Given the description of an element on the screen output the (x, y) to click on. 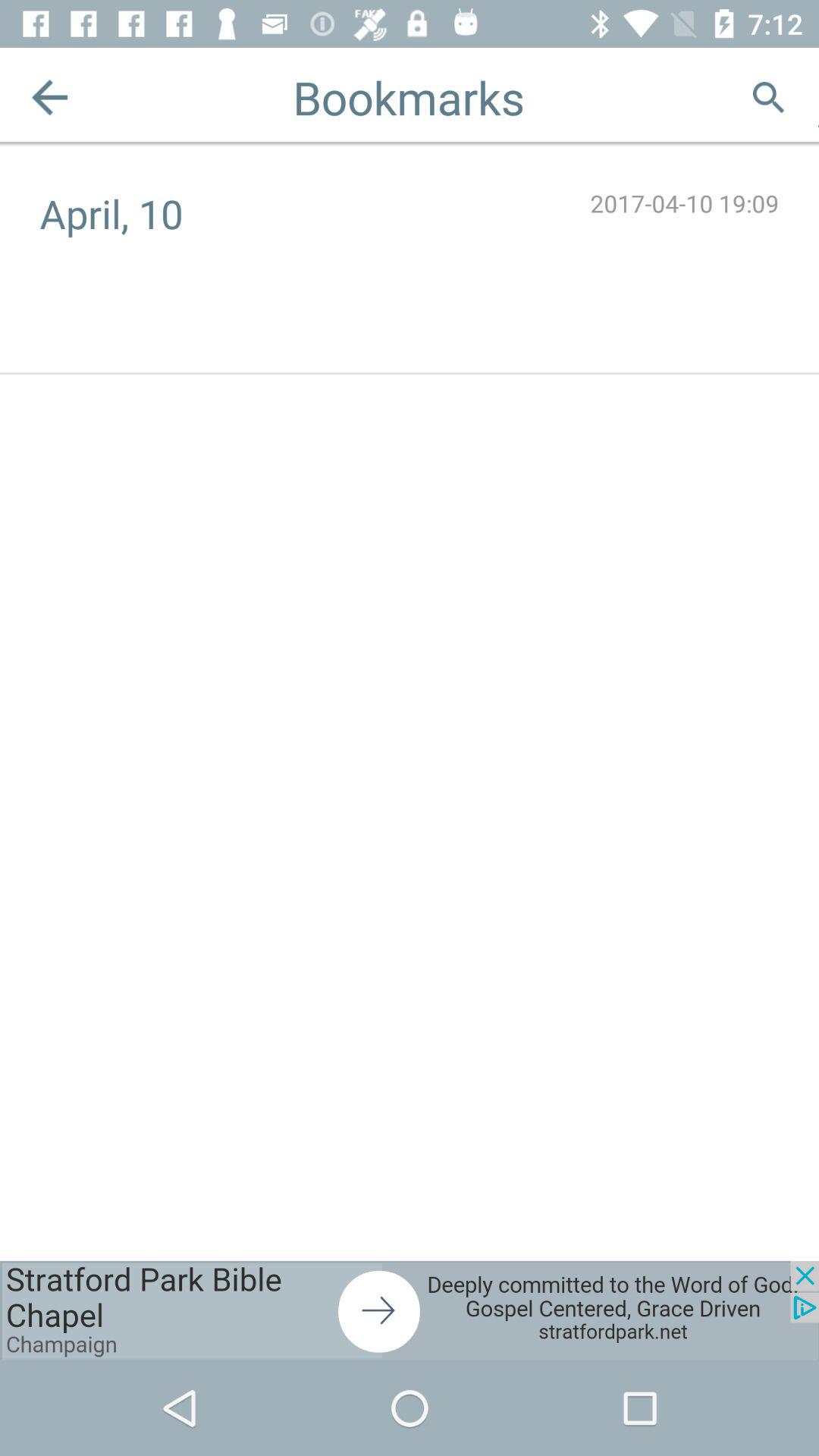
visit this advertiser page (409, 1310)
